Given the description of an element on the screen output the (x, y) to click on. 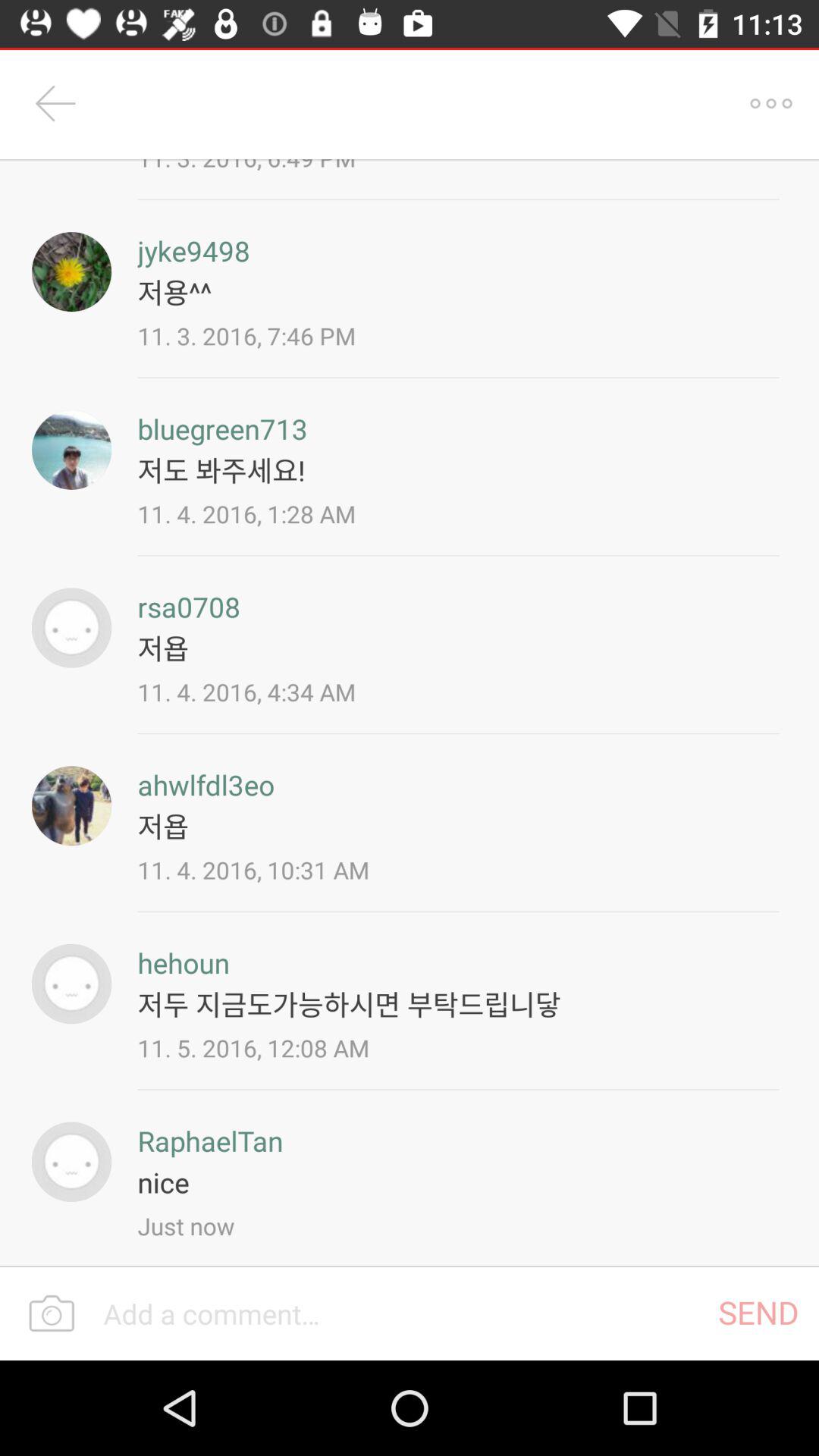
scroll to the rsa0708 (188, 606)
